Given the description of an element on the screen output the (x, y) to click on. 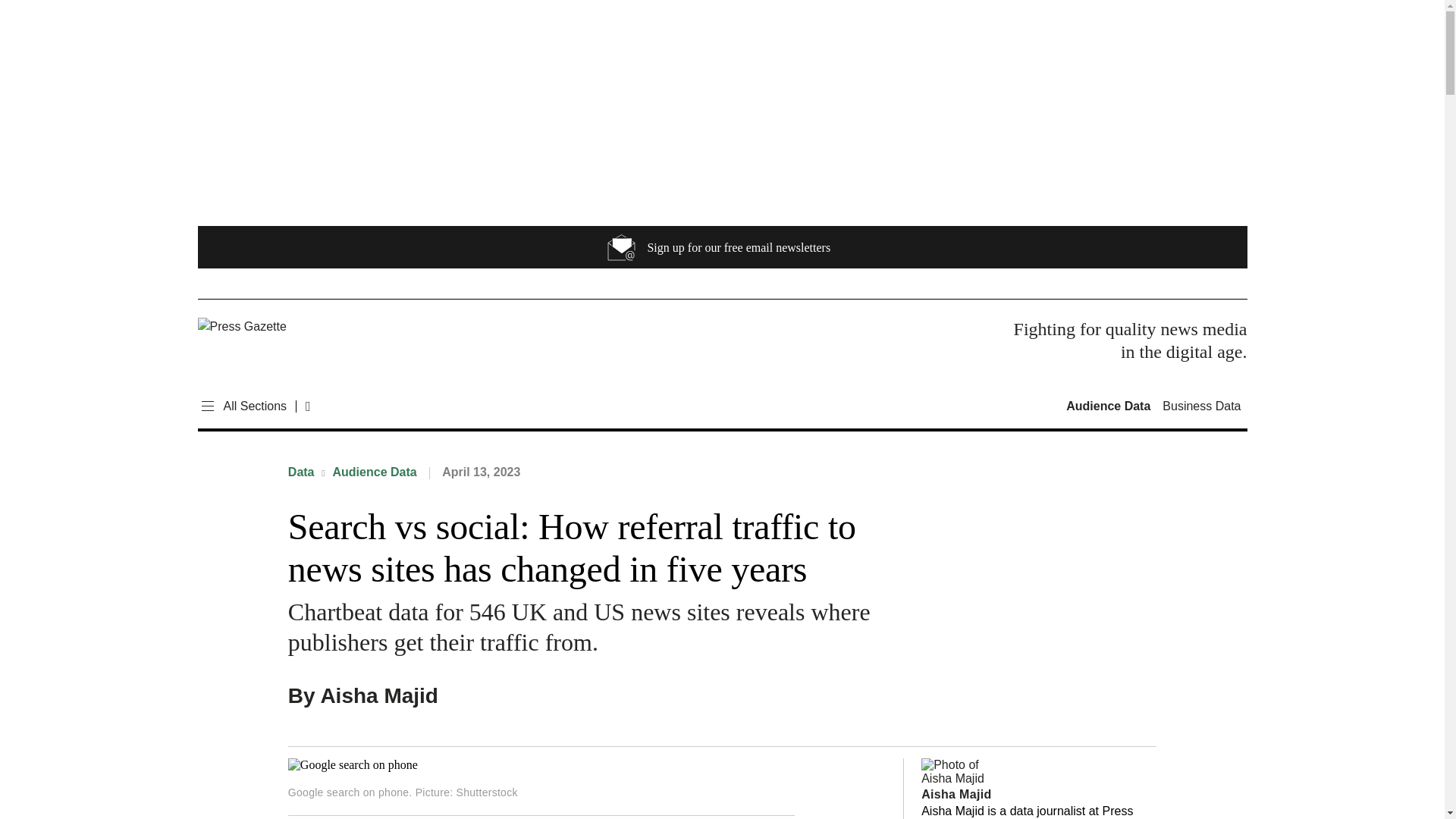
All Sections (241, 406)
Business Data (1201, 406)
Audience Data (1110, 406)
Press Gazette  (301, 326)
